Given the description of an element on the screen output the (x, y) to click on. 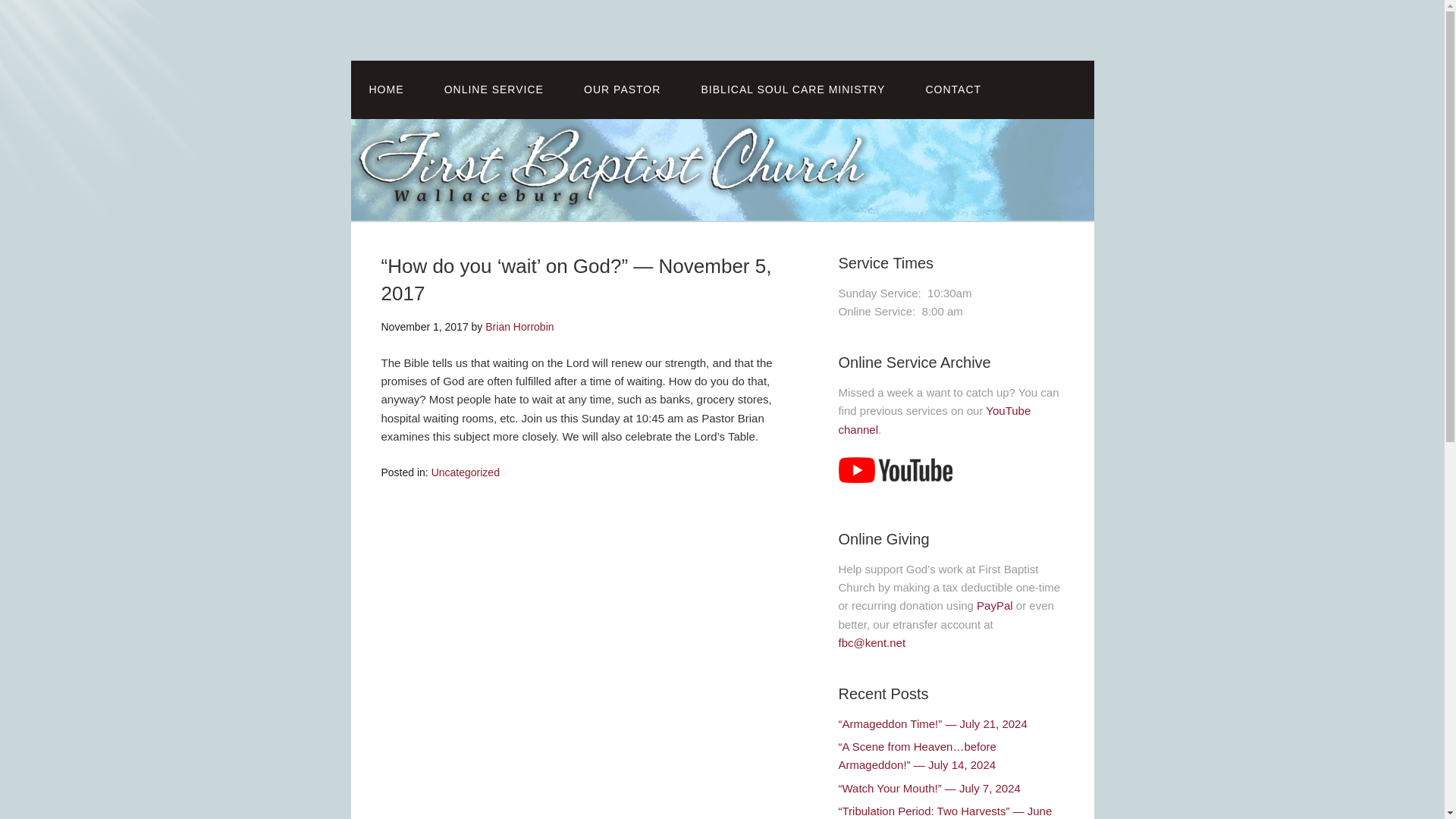
BIBLICAL SOUL CARE MINISTRY (793, 89)
Posts by Brian Horrobin (518, 326)
HOME (386, 89)
ONLINE SERVICE (494, 89)
Wednesday, November 1, 2017, 4:12 pm (423, 326)
Brian Horrobin (518, 326)
Uncategorized (464, 472)
Streaming video of sunday services (494, 89)
YouTube channel (934, 419)
CONTACT (952, 89)
OUR PASTOR (622, 89)
PayPal  (996, 604)
